Given the description of an element on the screen output the (x, y) to click on. 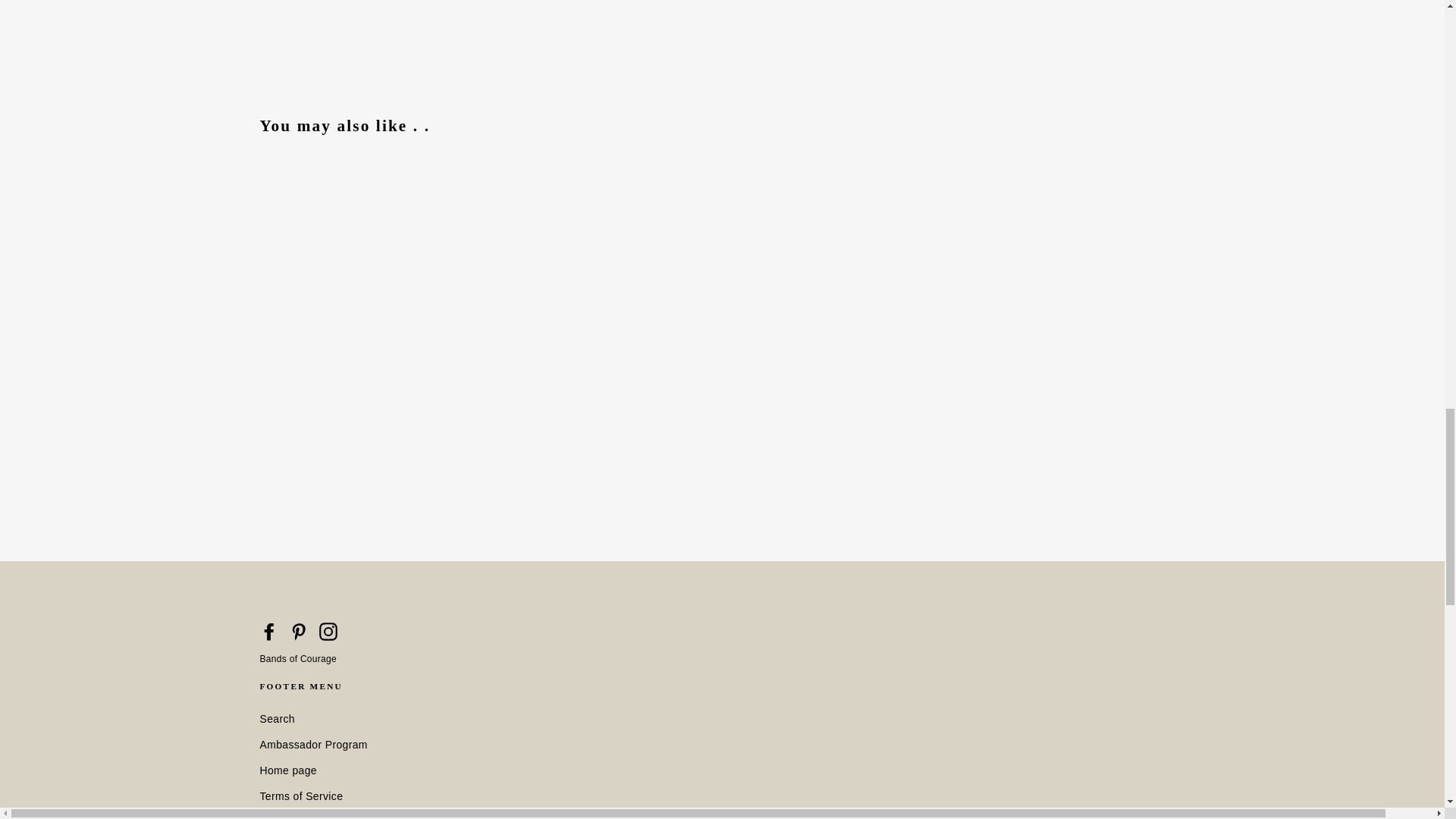
Bands of Courage on Instagram (327, 630)
Bands of Courage on Pinterest (298, 630)
Bands of Courage on Facebook (268, 630)
